Given the description of an element on the screen output the (x, y) to click on. 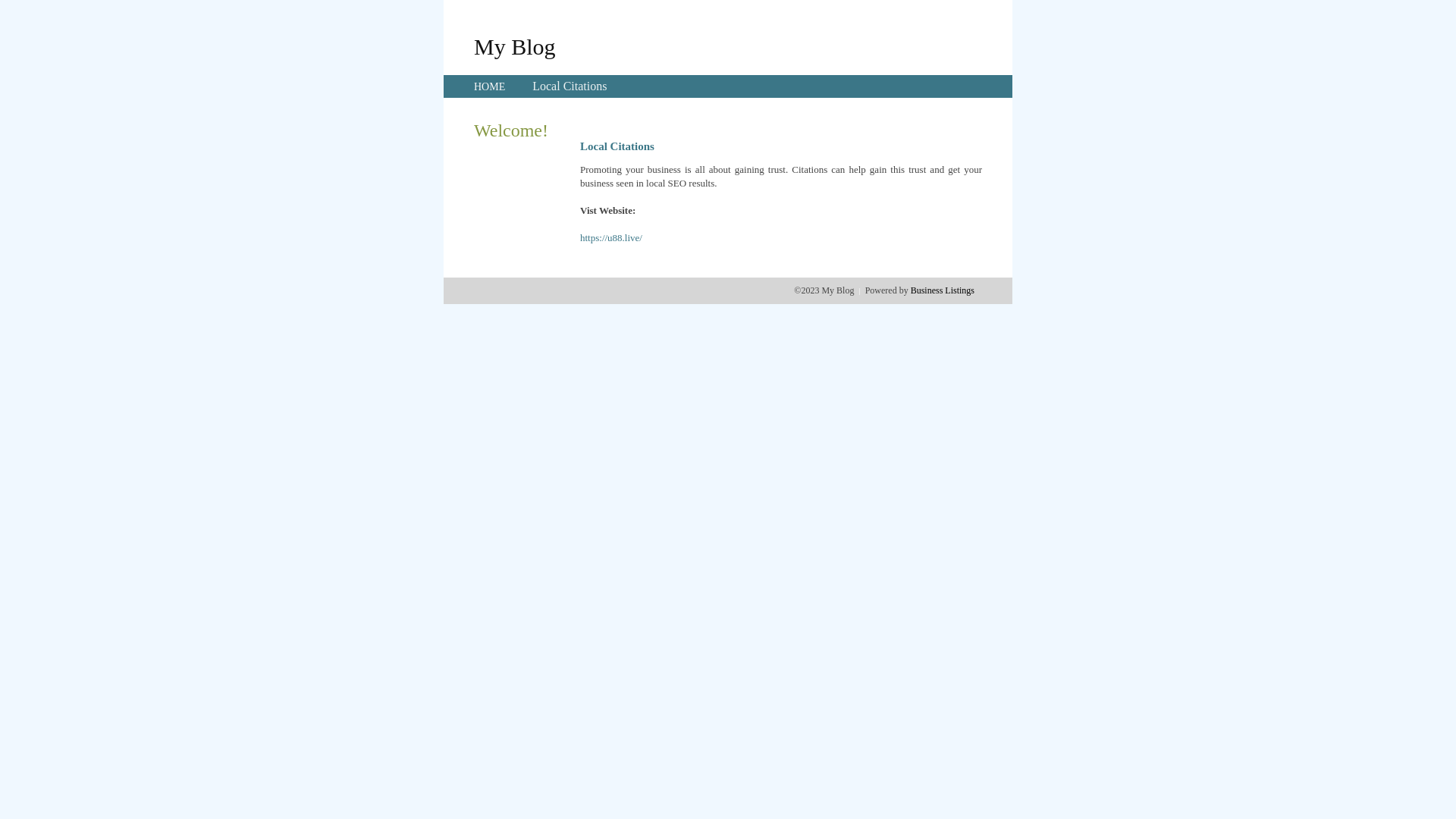
HOME Element type: text (489, 86)
https://u88.live/ Element type: text (611, 237)
Business Listings Element type: text (942, 290)
My Blog Element type: text (514, 46)
Local Citations Element type: text (569, 85)
